Given the description of an element on the screen output the (x, y) to click on. 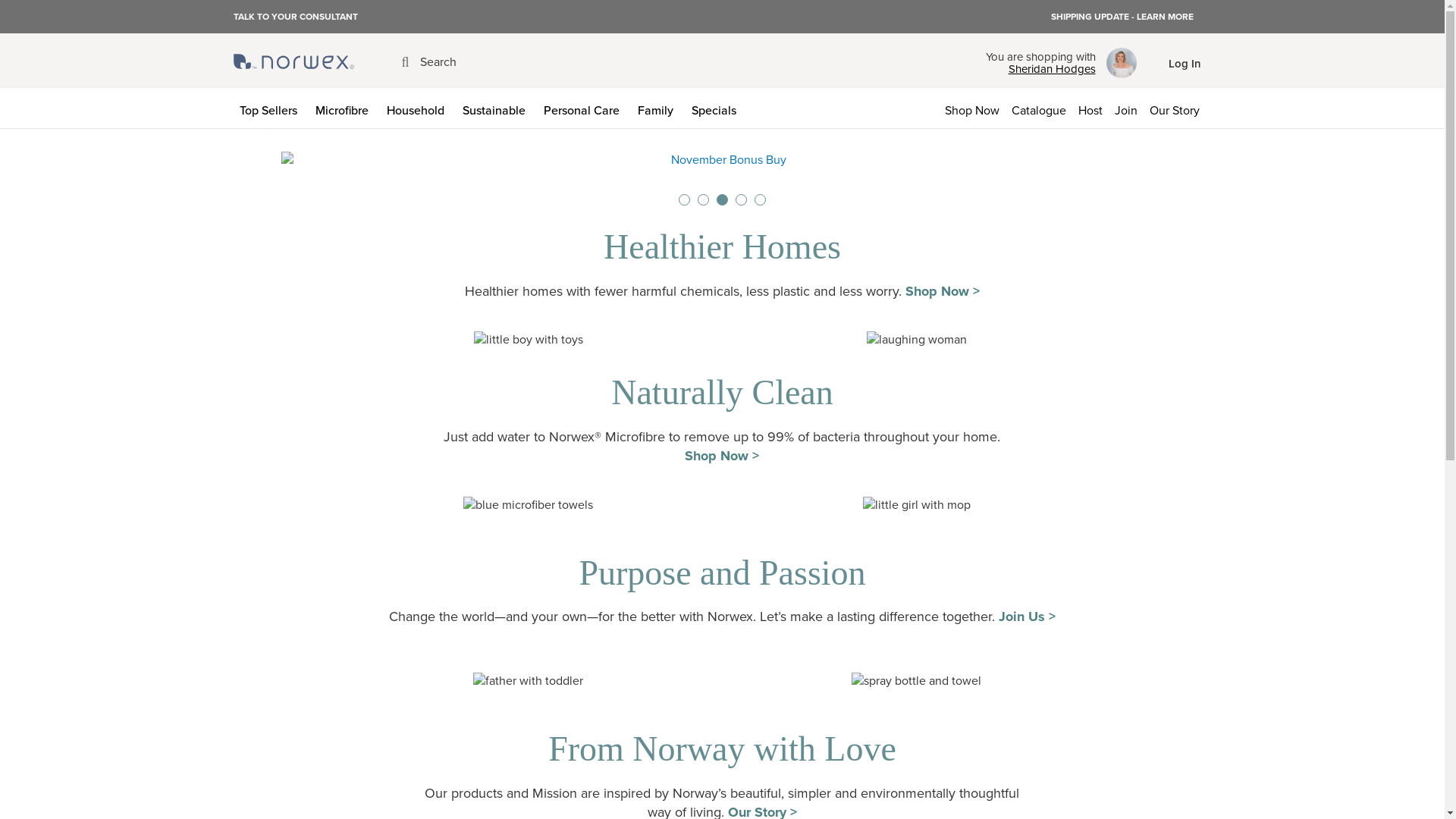
Sheridan Hodges Element type: text (1040, 68)
Search Element type: text (428, 61)
Join Us > Element type: text (1026, 616)
Shop Now Element type: text (971, 107)
Shop Now > Element type: text (721, 455)
Household Element type: text (418, 107)
Family Element type: text (657, 107)
Microfibre Element type: text (344, 107)
Top Sellers Element type: text (271, 107)
Shop Now > Element type: text (942, 291)
Host Element type: text (1090, 107)
SHIPPING UPDATE - LEARN MORE Element type: text (1122, 16)
Join Element type: text (1125, 107)
Specials Element type: text (716, 107)
Our Story Element type: text (1177, 107)
Personal Care Element type: text (583, 107)
Catalogue Element type: text (1038, 107)
Sustainable Element type: text (496, 107)
